Given the description of an element on the screen output the (x, y) to click on. 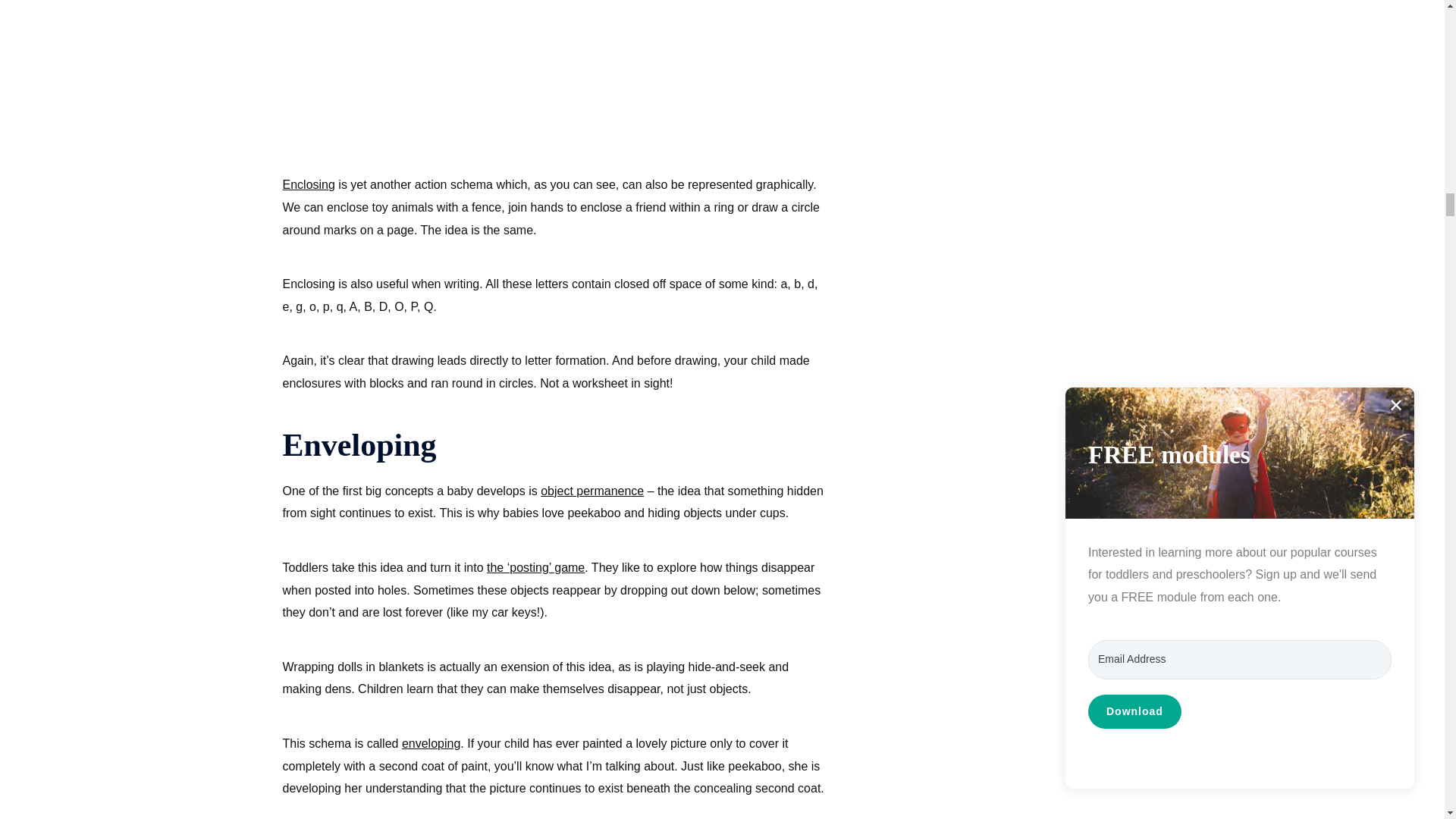
Enclosing (308, 184)
object permanence (591, 490)
enveloping (430, 743)
